Given the description of an element on the screen output the (x, y) to click on. 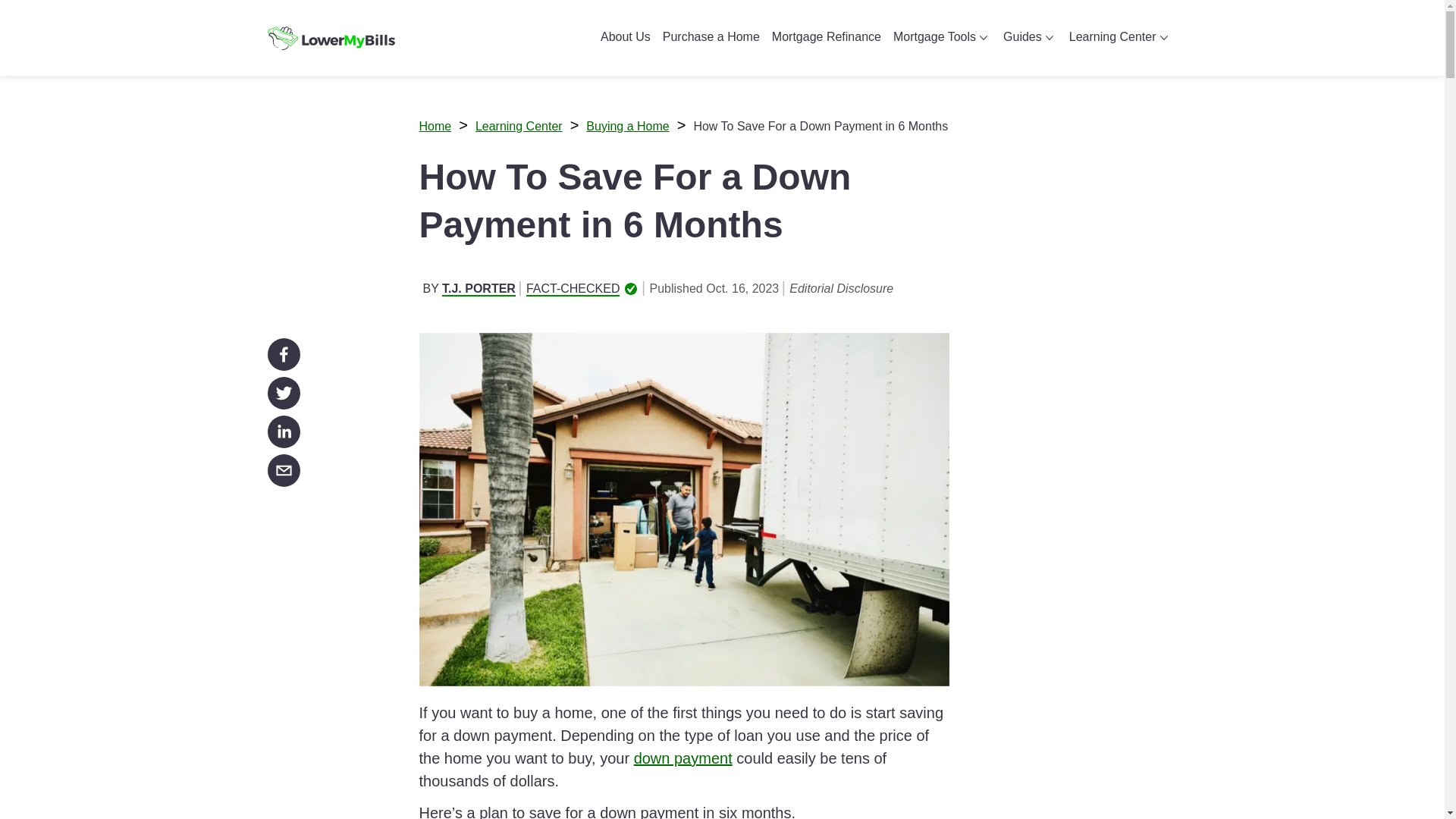
First-Time Homebuyers Guide (1029, 80)
Mortgage Refinance (825, 38)
Buying a Home (1098, 73)
Home (435, 125)
Mortgage Calculator (933, 73)
Learning Center (1120, 38)
Mortgage Tools (942, 38)
Debt-to-Income Ratio Calculator (941, 80)
down payment (682, 758)
Learning Center (519, 125)
Buying a Home (627, 125)
How To Save For a Down Payment in 6 Months (820, 125)
Mortgage Comparison (938, 73)
Owning a Home (1100, 73)
Guides (1030, 38)
